Given the description of an element on the screen output the (x, y) to click on. 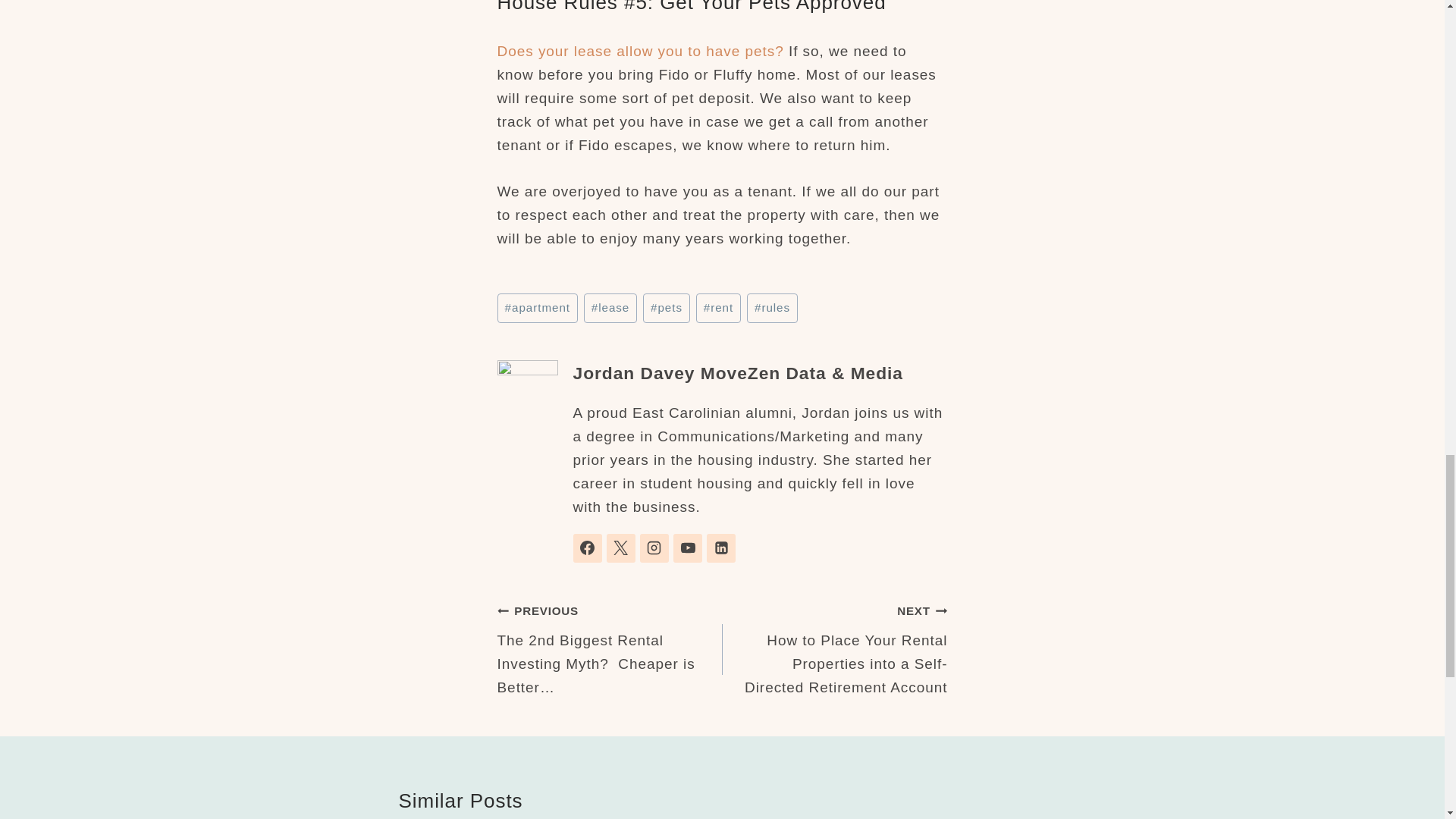
rent (718, 307)
rules (771, 307)
lease (610, 307)
pets (666, 307)
apartment (537, 307)
